Given the description of an element on the screen output the (x, y) to click on. 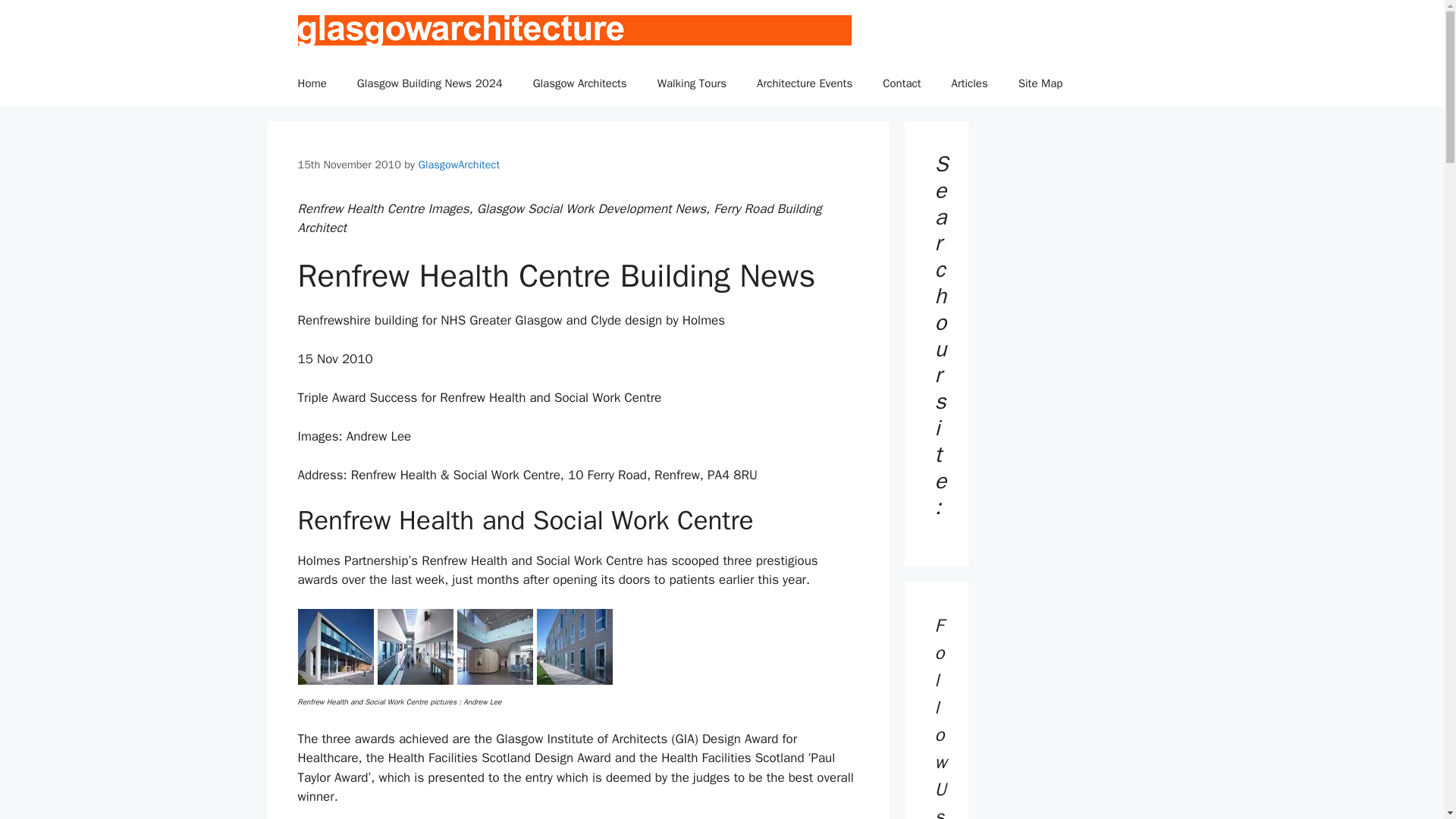
Glasgow Architects (580, 83)
Site Map (1040, 83)
Walking Tours (691, 83)
Contact (901, 83)
View all posts by GlasgowArchitect (458, 164)
Home (311, 83)
Articles (969, 83)
Glasgow Building News 2024 (430, 83)
GlasgowArchitect (458, 164)
Architecture Events (804, 83)
